Given the description of an element on the screen output the (x, y) to click on. 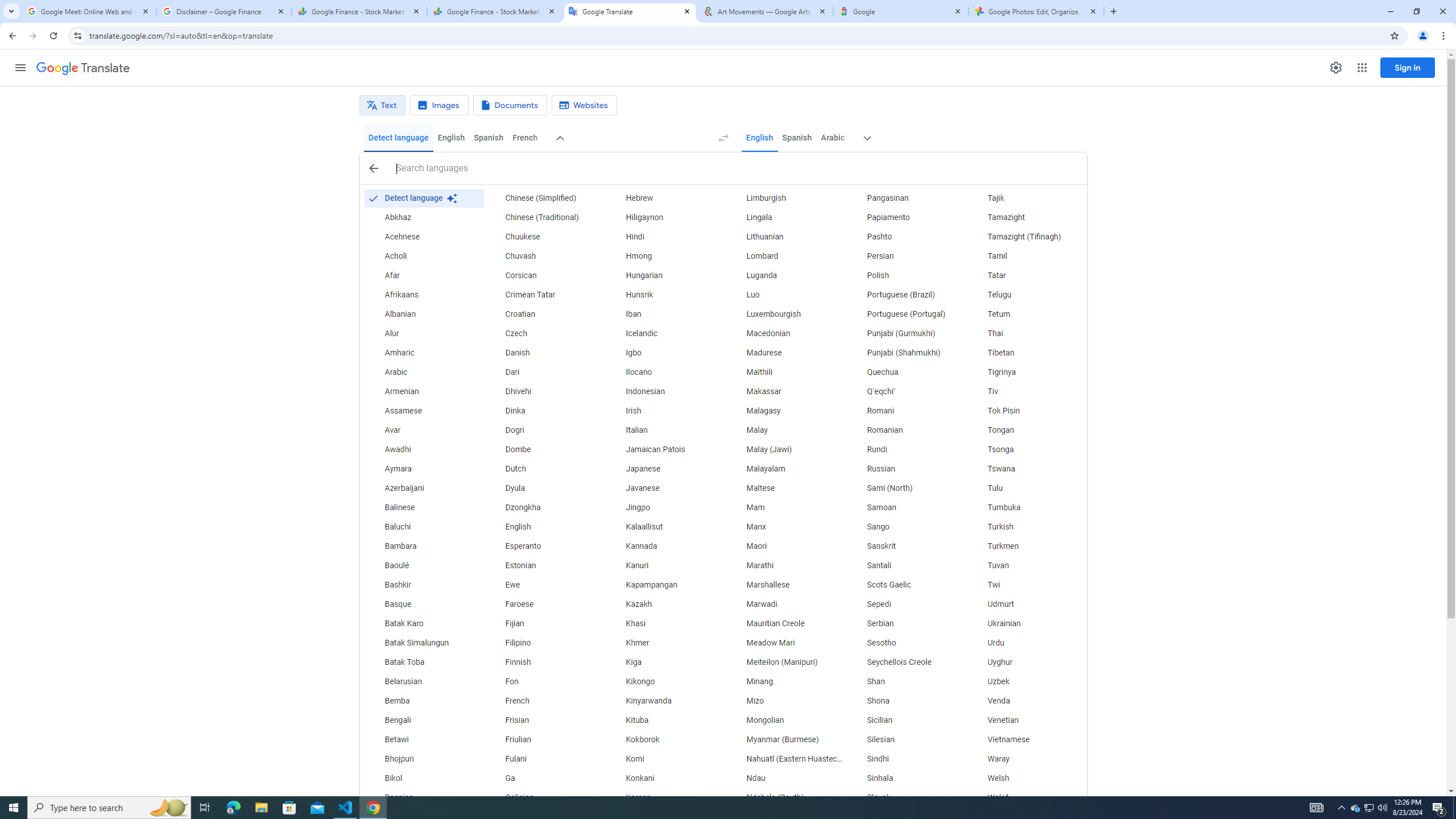
Indonesian (665, 391)
Hungarian (665, 275)
Khasi (665, 624)
Wolof (1026, 797)
Santali (905, 565)
Shan (905, 682)
Uyghur (1026, 662)
Khmer (665, 642)
Iban (665, 314)
Lingala (785, 217)
Bosnian (423, 797)
Serbian (905, 624)
Meadow Mari (785, 642)
